Given the description of an element on the screen output the (x, y) to click on. 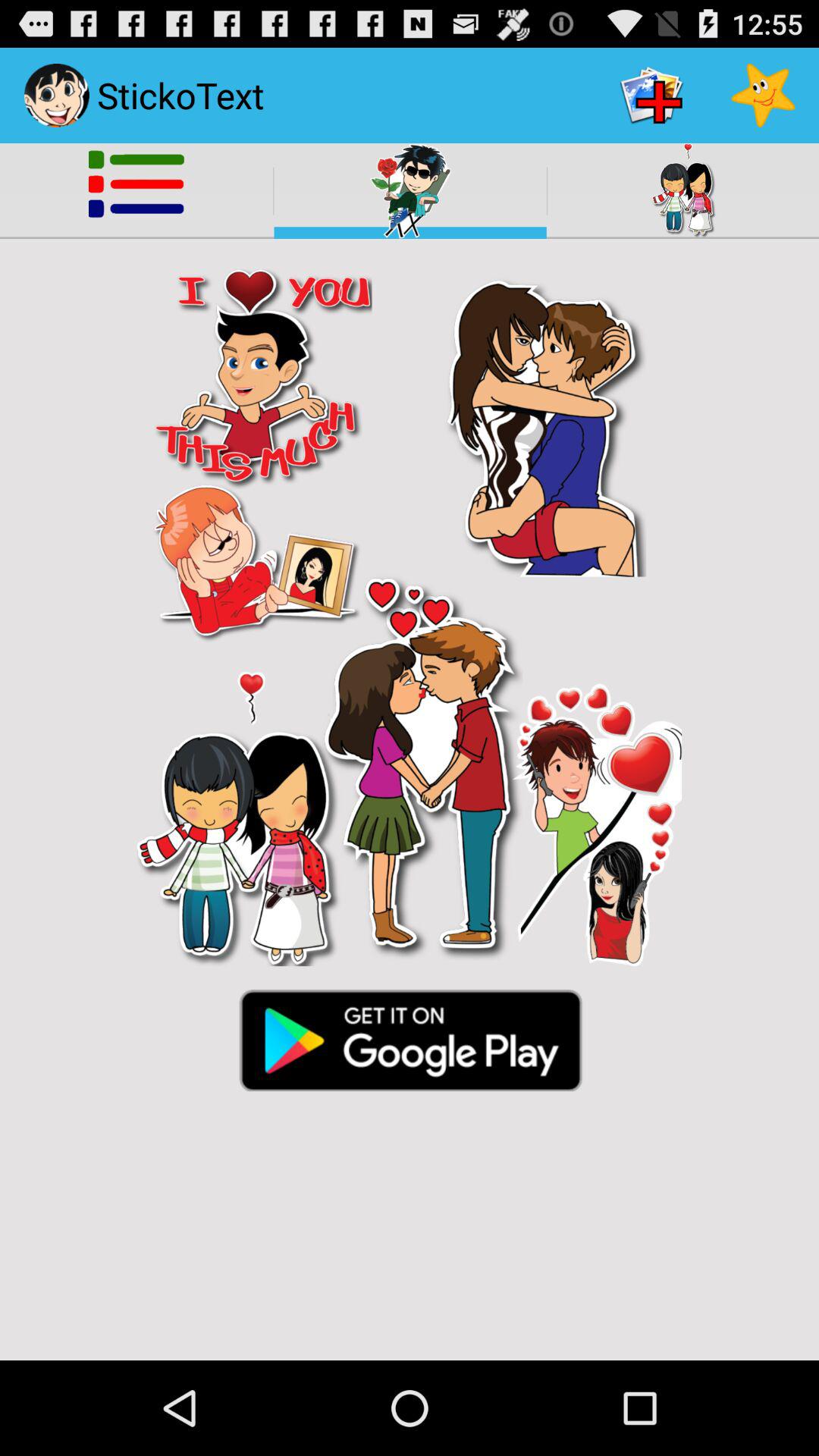
go to google pay app (409, 1038)
